Given the description of an element on the screen output the (x, y) to click on. 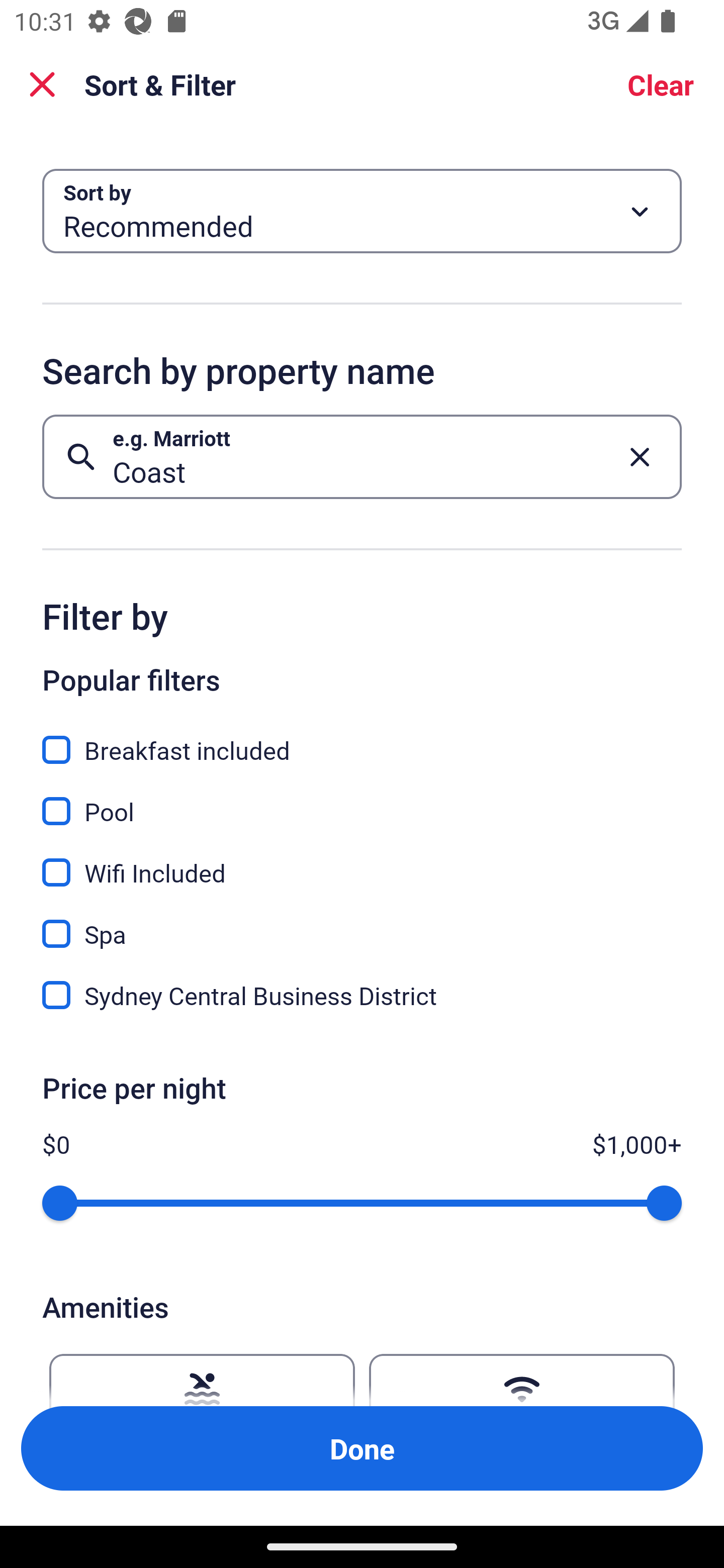
Close Sort and Filter (42, 84)
Clear (660, 84)
Sort by Button Recommended (361, 211)
e.g. Marriott Button Coast (361, 455)
Breakfast included, Breakfast included (361, 738)
Pool, Pool (361, 800)
Wifi Included, Wifi Included (361, 861)
Spa, Spa (361, 922)
Apply and close Sort and Filter Done (361, 1448)
